Given the description of an element on the screen output the (x, y) to click on. 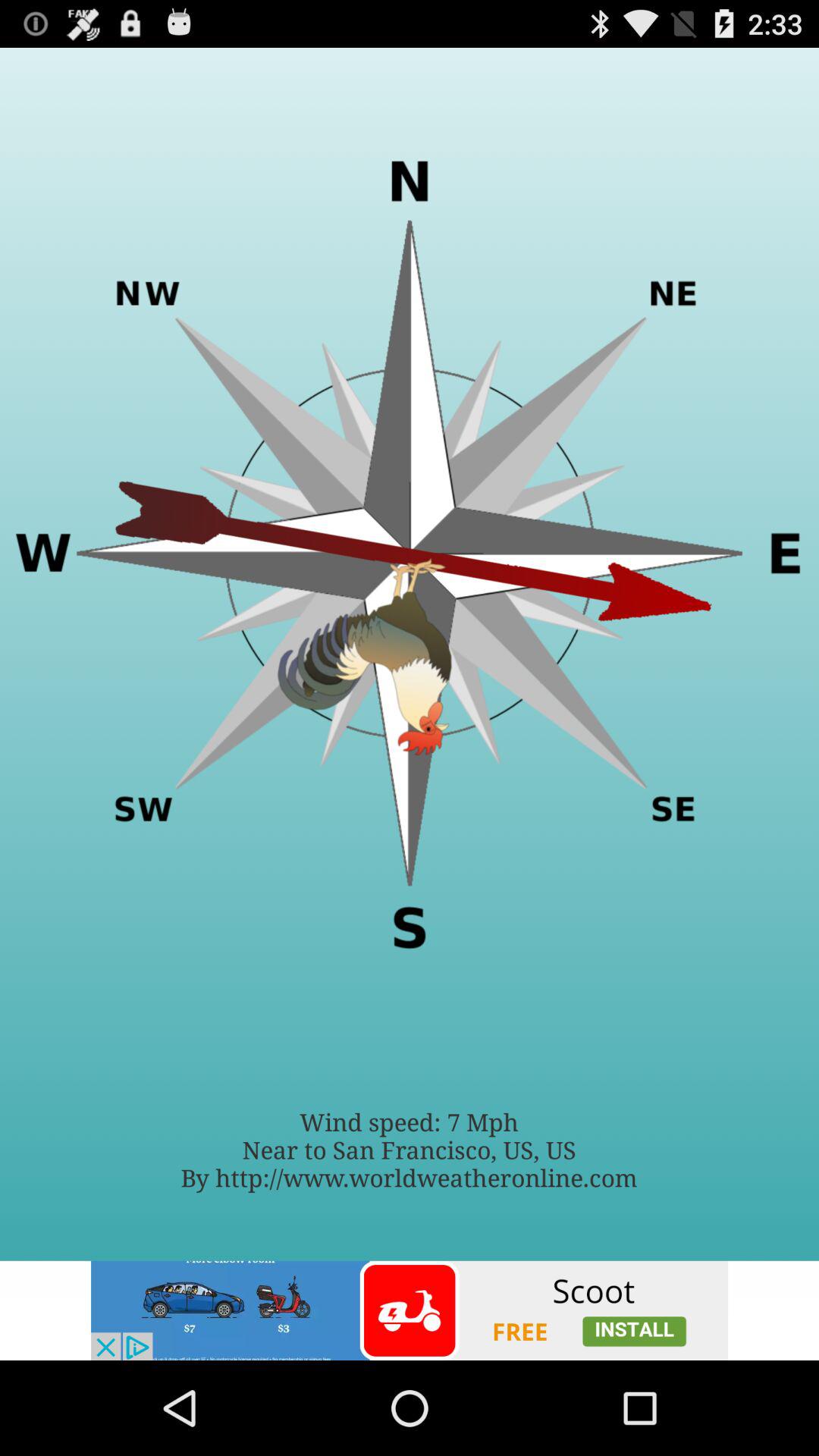
view advert (409, 1310)
